Given the description of an element on the screen output the (x, y) to click on. 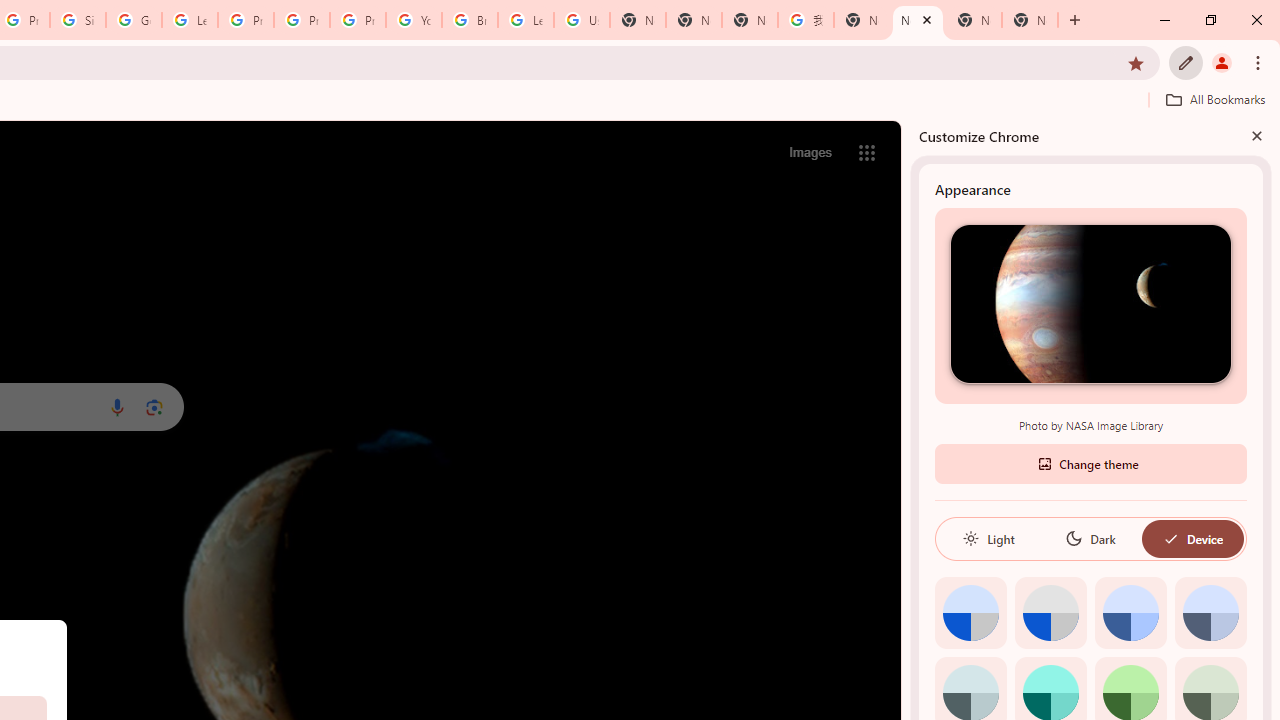
Change theme (1090, 462)
Device (1192, 538)
AutomationID: baseSvg (1170, 538)
Browse Chrome as a guest - Computer - Google Chrome Help (469, 20)
Blue (1130, 612)
Photo by NASA Image Library (1090, 303)
All Bookmarks (1215, 99)
Light (988, 538)
Customize Chrome (1185, 62)
Default color (970, 612)
Privacy Help Center - Policies Help (245, 20)
